Given the description of an element on the screen output the (x, y) to click on. 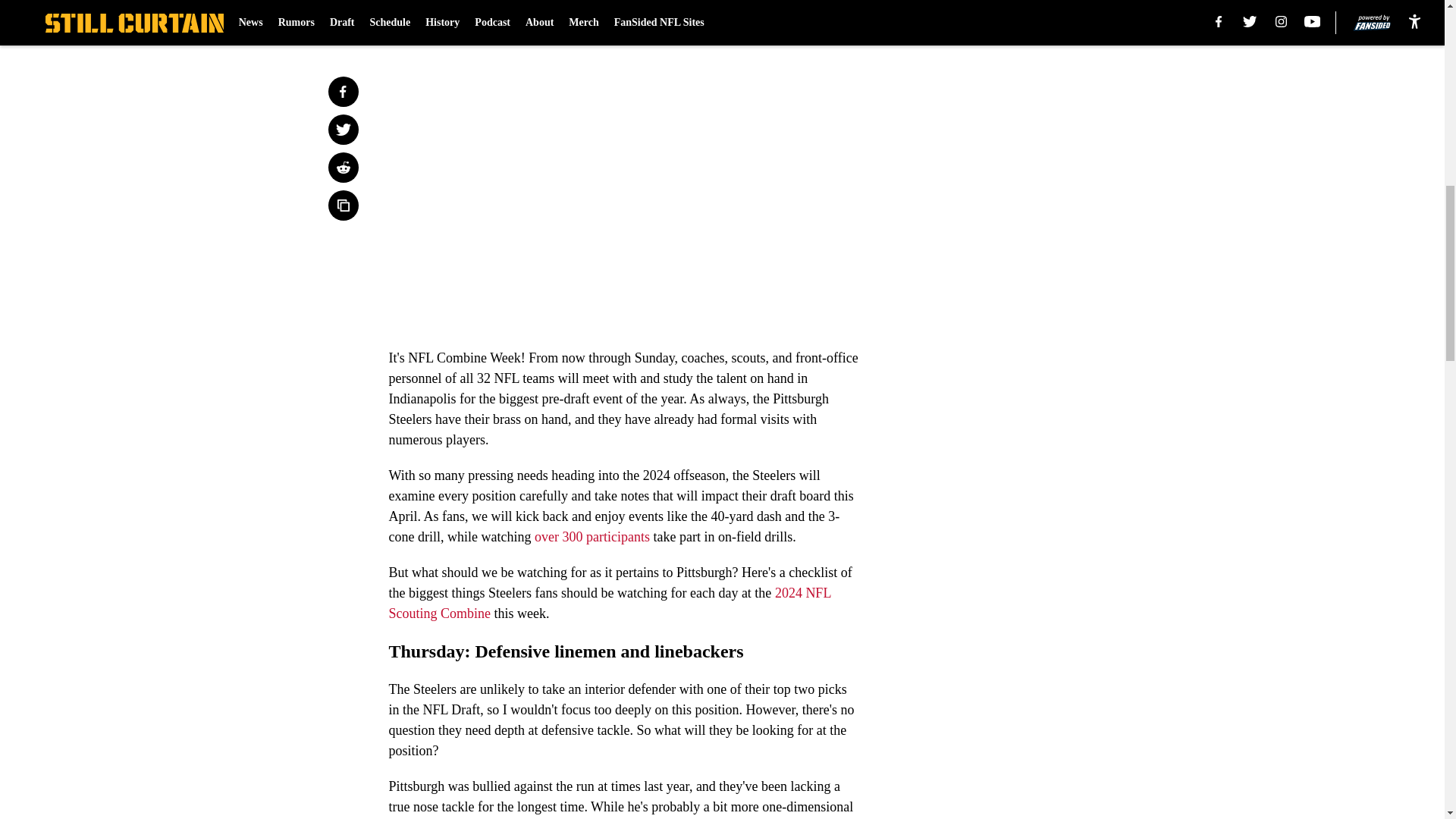
2024 NFL Scouting Combine (608, 602)
over 300 participants (591, 536)
